Given the description of an element on the screen output the (x, y) to click on. 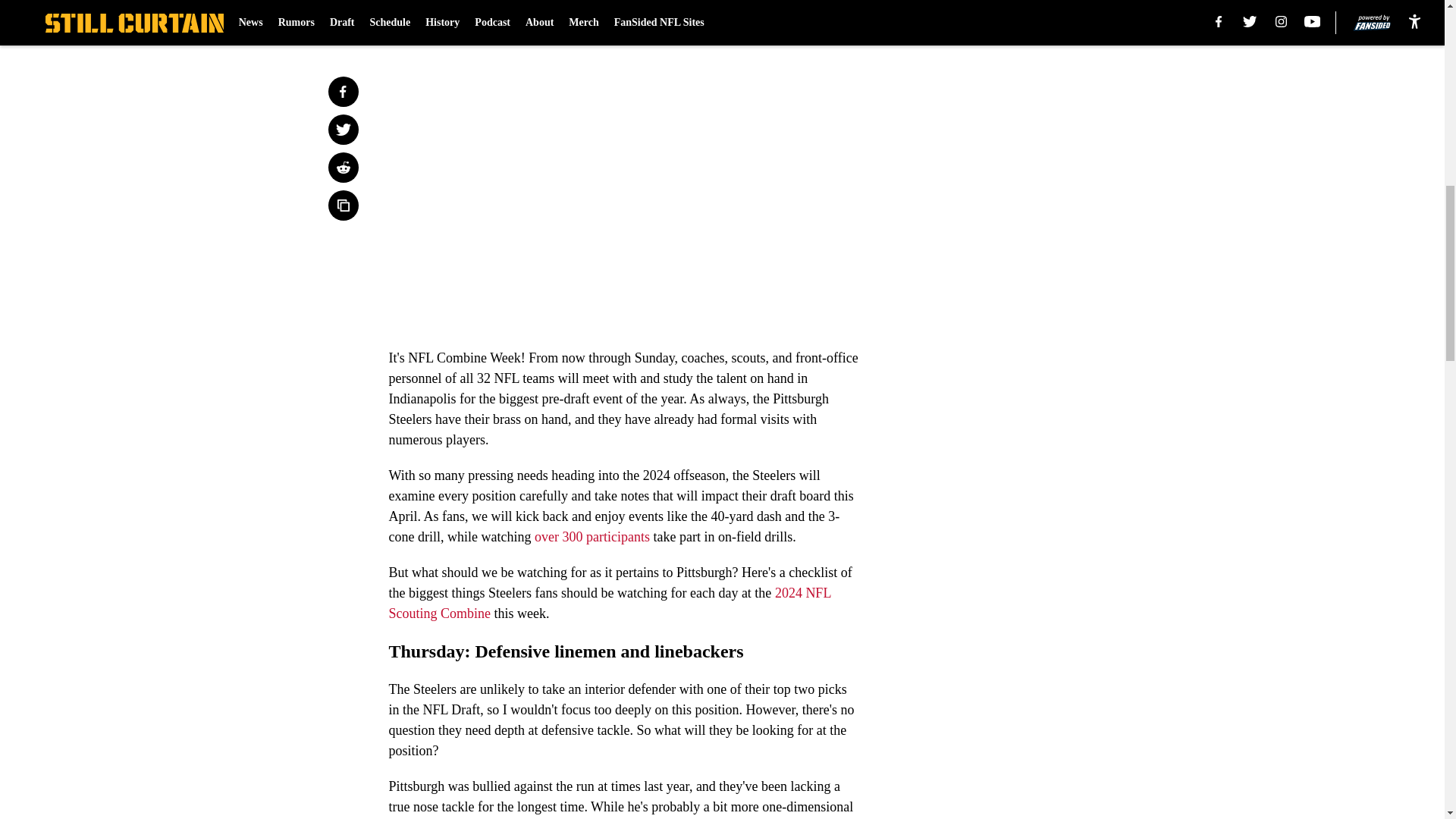
2024 NFL Scouting Combine (608, 602)
over 300 participants (591, 536)
